Given the description of an element on the screen output the (x, y) to click on. 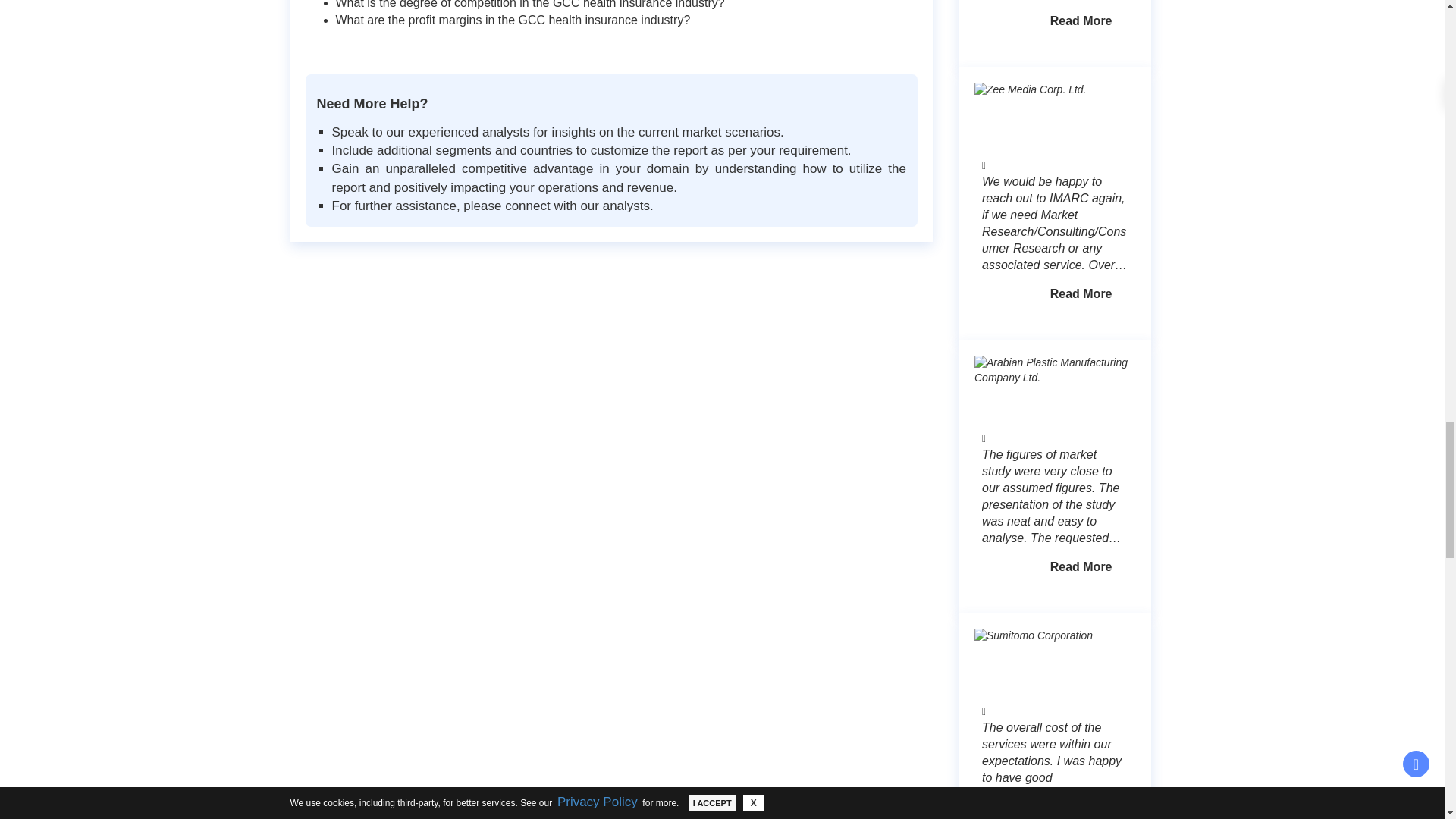
Know more (1081, 294)
Know more (1081, 21)
Know more (1081, 567)
